Given the description of an element on the screen output the (x, y) to click on. 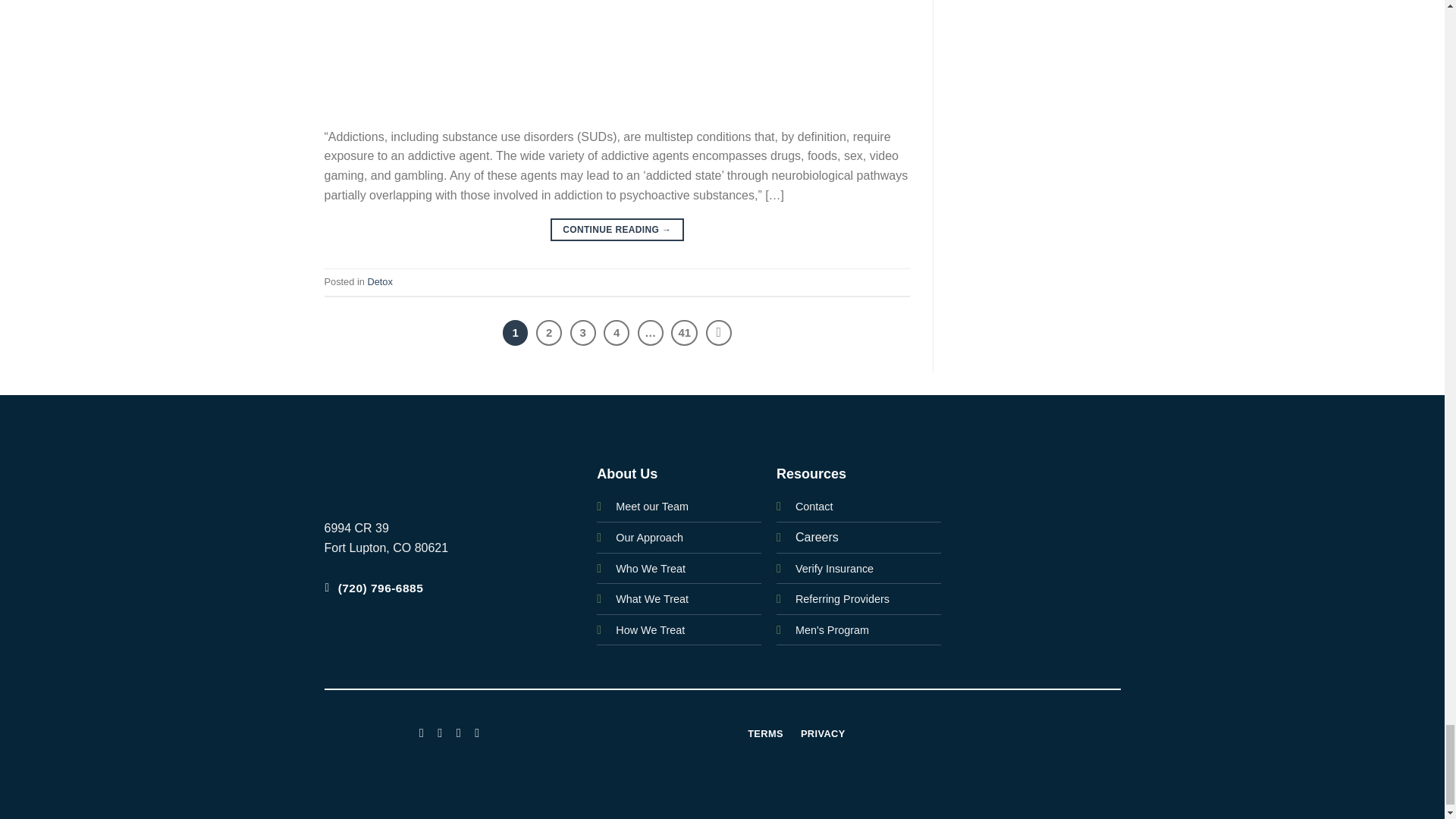
Follow on Facebook (421, 731)
Follow on Twitter (458, 731)
Follow on Instagram (439, 731)
Send us an email (476, 731)
